Given the description of an element on the screen output the (x, y) to click on. 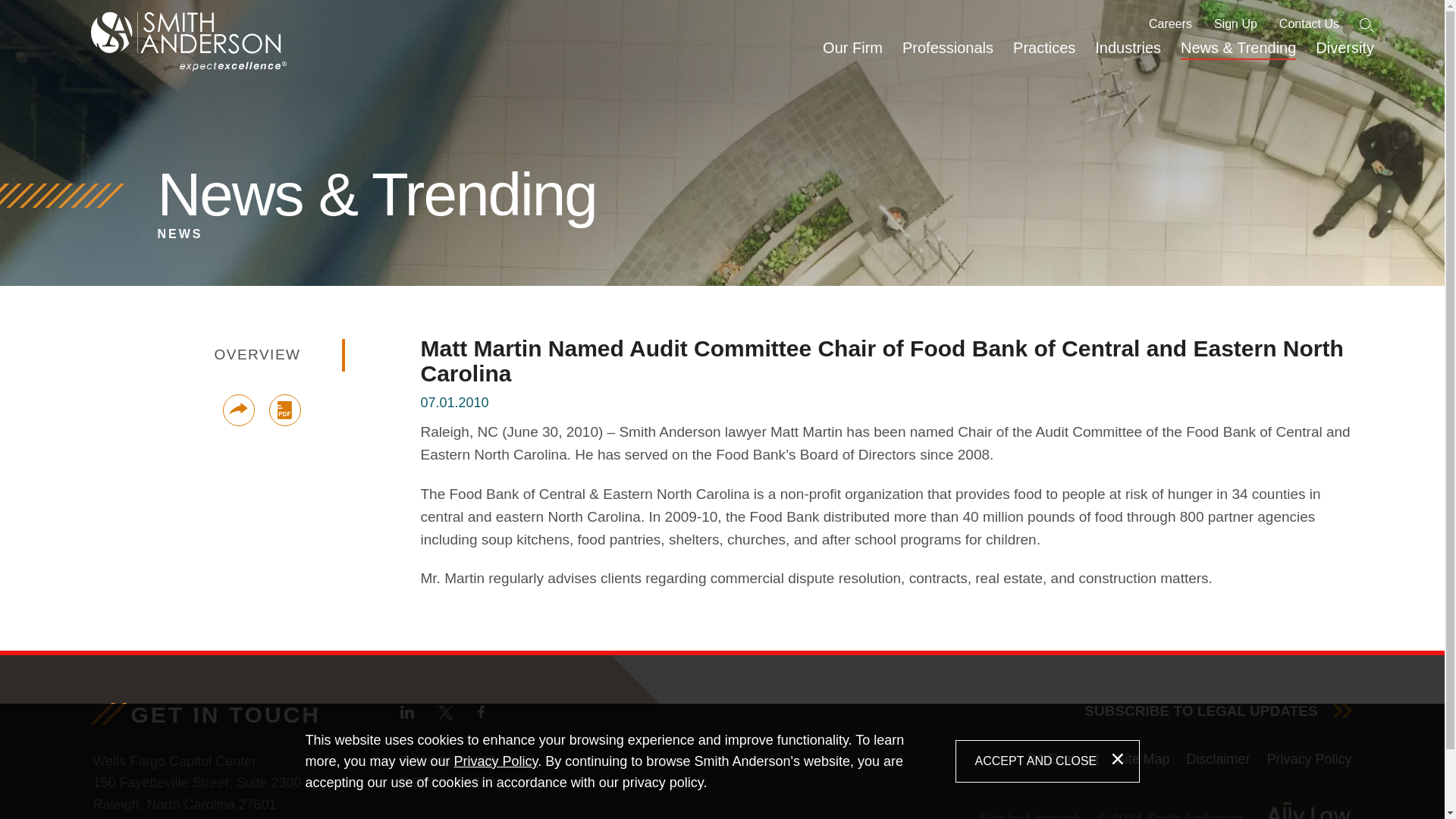
Our Firm (852, 54)
Main Content (674, 13)
Professionals (947, 54)
Search (1366, 25)
Print PDF (283, 409)
Twitter (445, 712)
Main Menu (680, 13)
Menu (680, 13)
Share (238, 409)
Linkedin (406, 711)
